Given the description of an element on the screen output the (x, y) to click on. 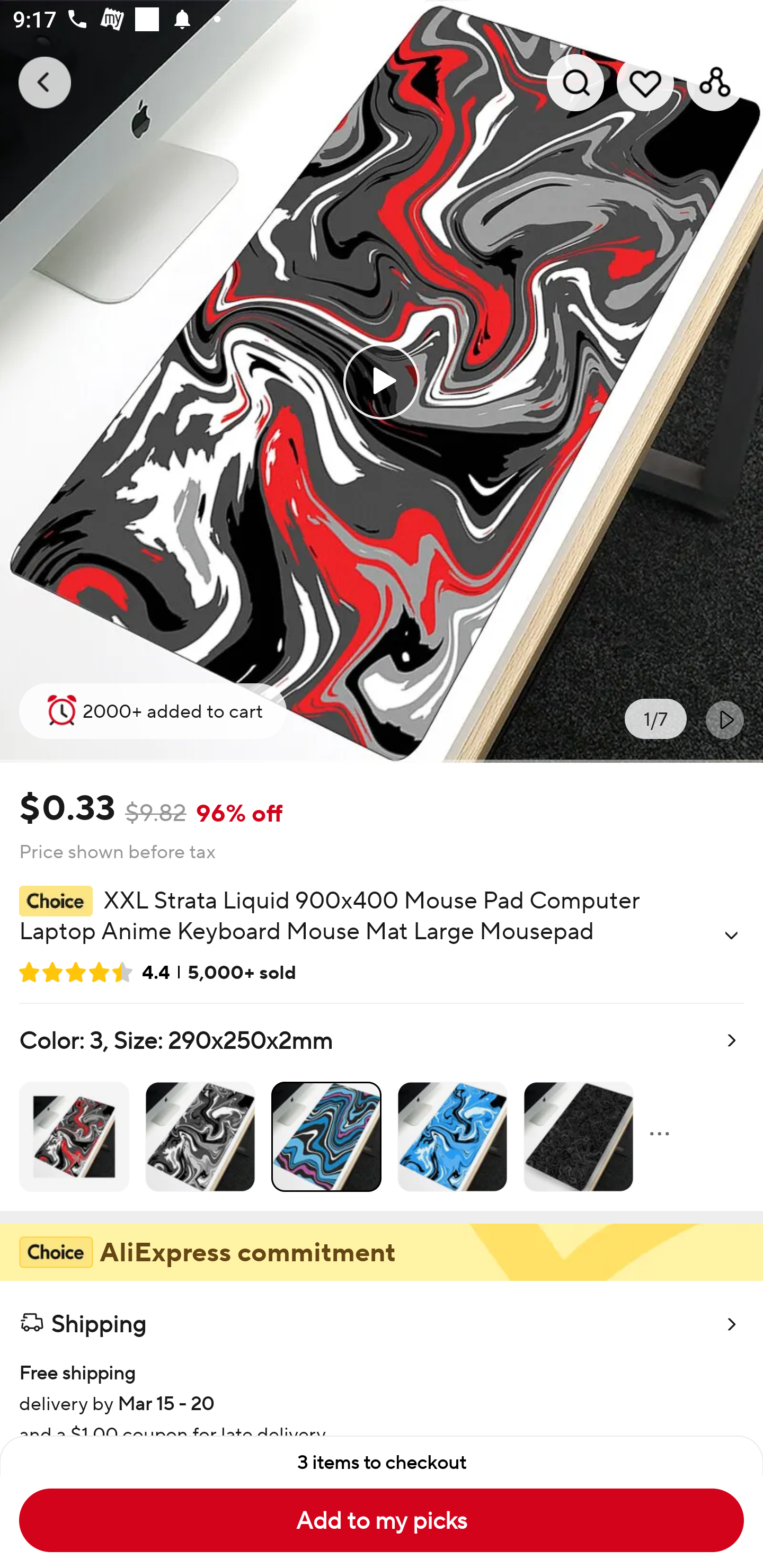
0.0 (381, 381)
Navigate up (44, 82)
 (724, 719)
 (730, 935)
Color: 3, Size: 290x250x2mm  (381, 1106)
Add to my picks (381, 1520)
